Given the description of an element on the screen output the (x, y) to click on. 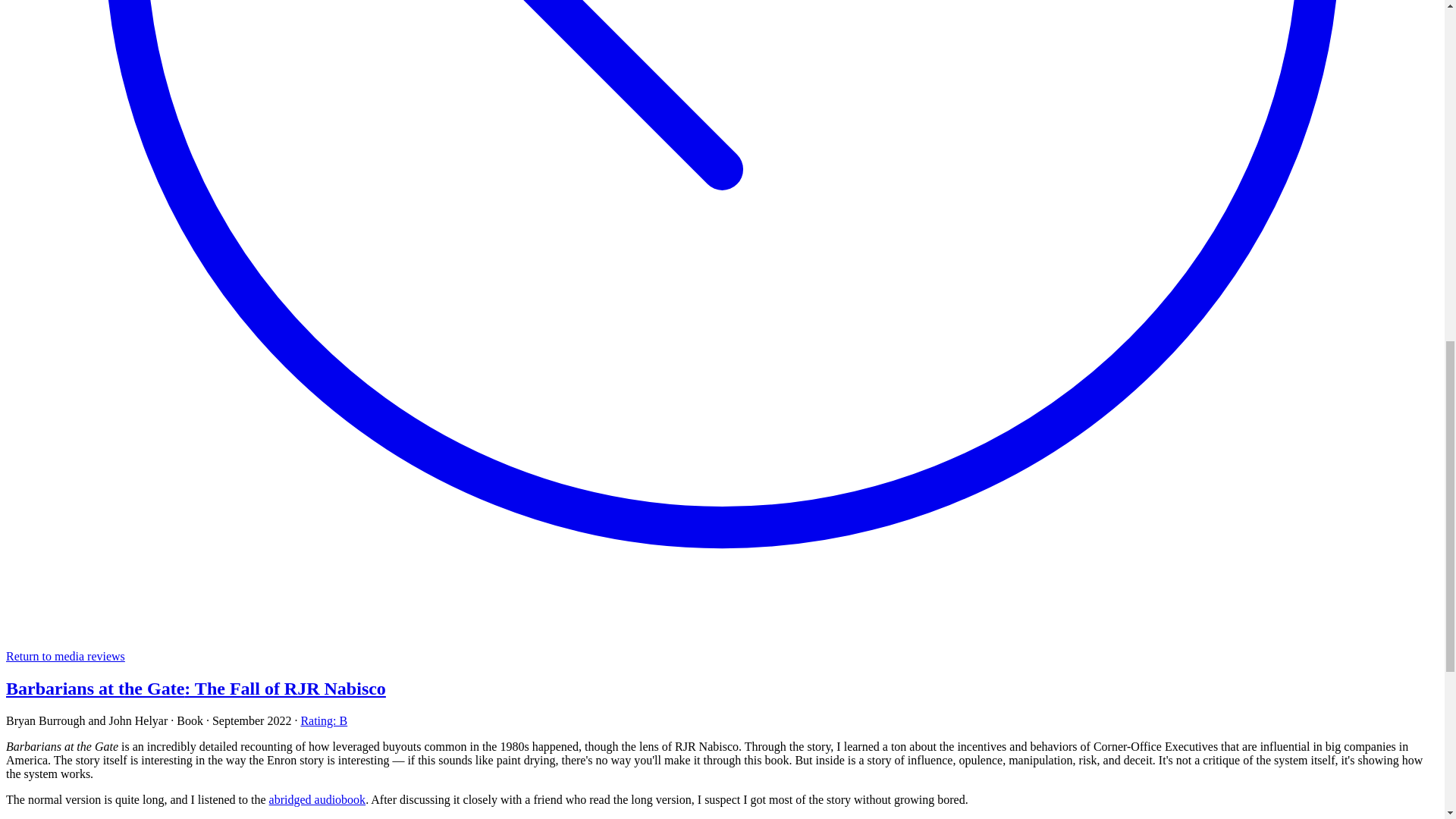
abridged audiobook (317, 799)
Barbarians at the Gate: The Fall of RJR Nabisco (195, 688)
Rating: B (323, 720)
